Given the description of an element on the screen output the (x, y) to click on. 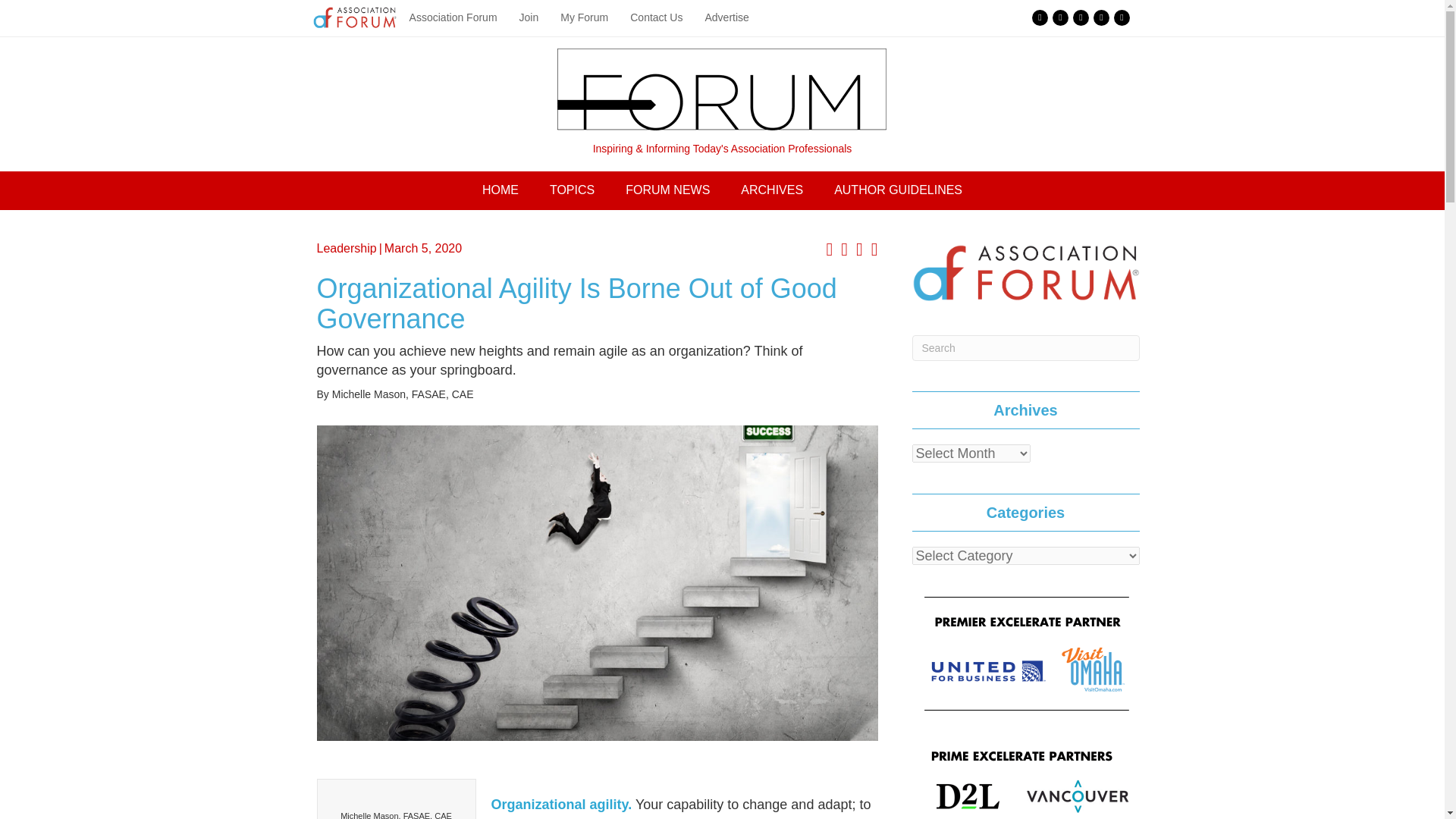
Contact Us (656, 18)
TOPICS (572, 190)
Join (529, 18)
FORUM NEWS (667, 190)
Leadership (347, 247)
Advertise (726, 18)
Type and press Enter to search. (1024, 347)
FORUM Logo 457x108 (721, 89)
HOME (500, 190)
